Given the description of an element on the screen output the (x, y) to click on. 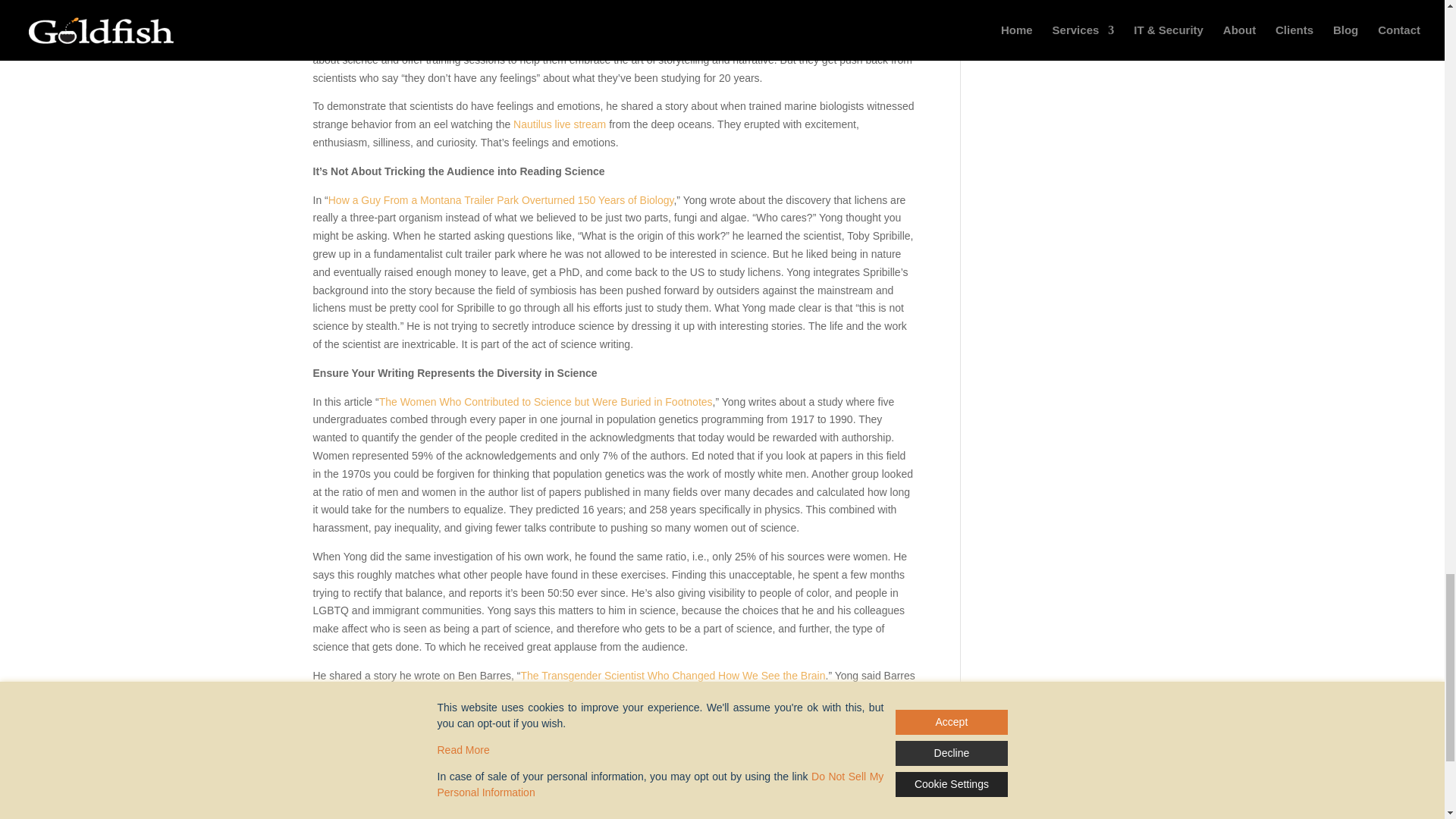
The Transgender Scientist Who Changed How We See the Brain (672, 675)
Nautilus live stream  (560, 123)
Story Collider (576, 41)
